Given the description of an element on the screen output the (x, y) to click on. 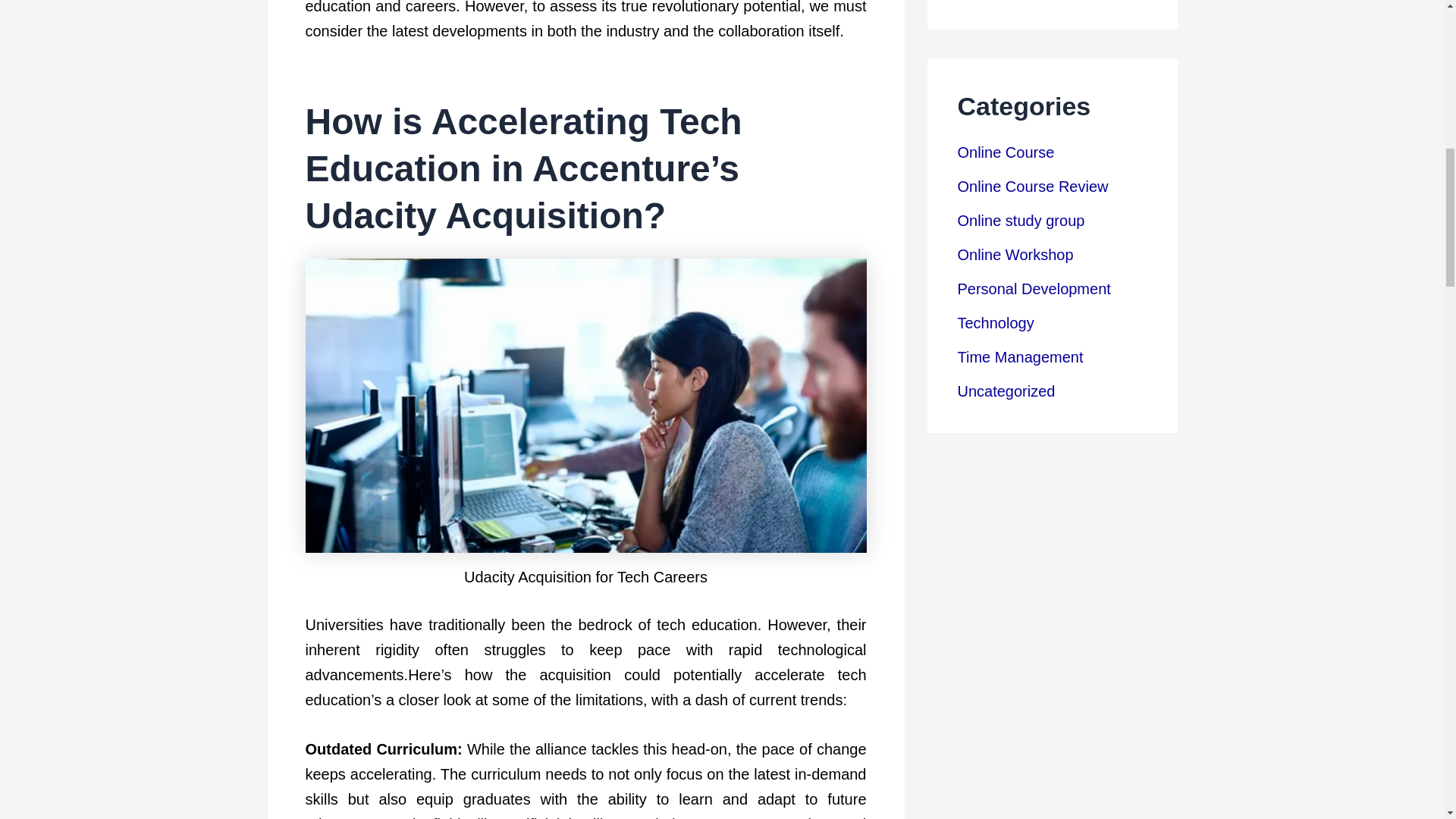
Online Course (1005, 152)
